Given the description of an element on the screen output the (x, y) to click on. 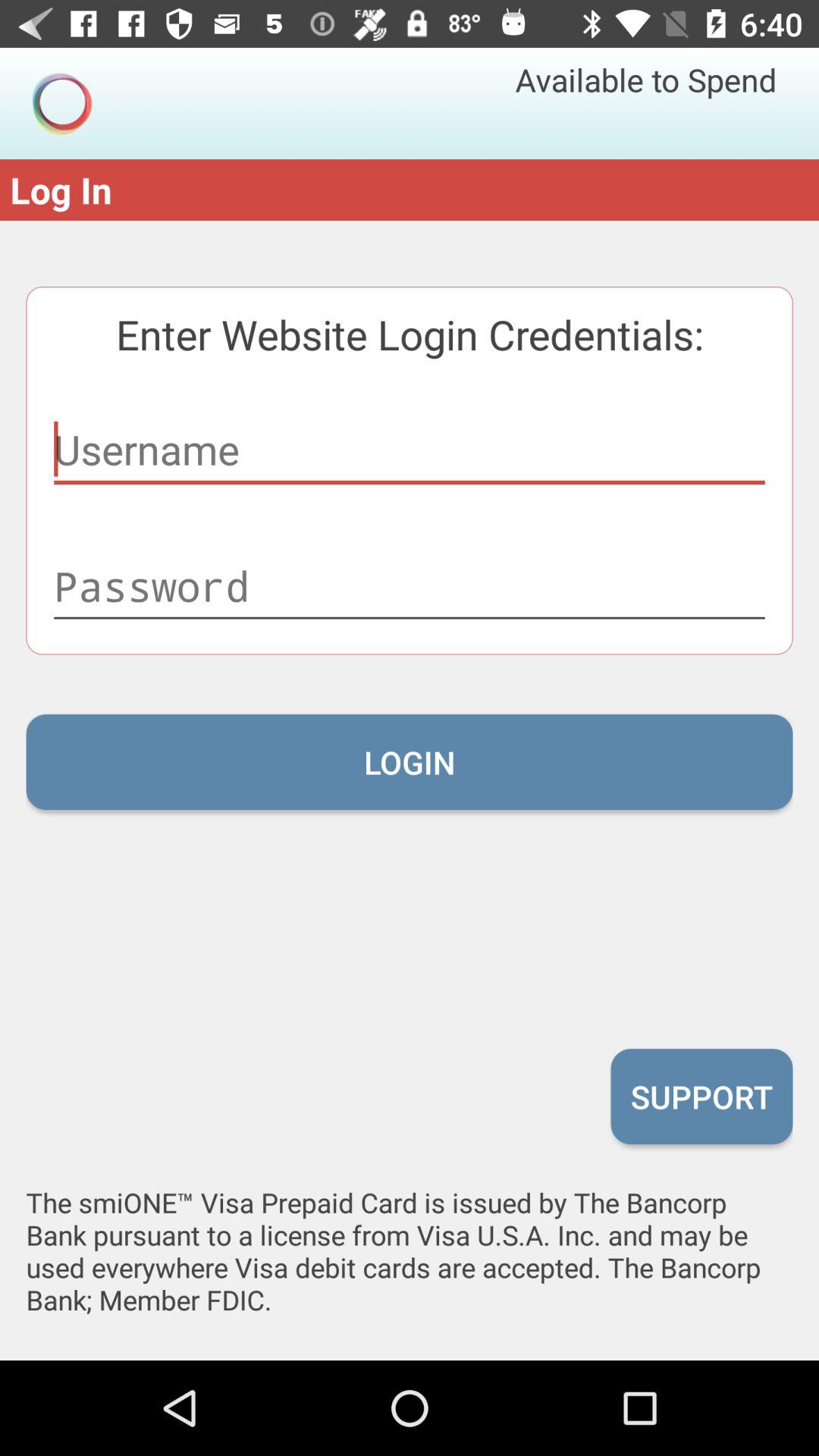
enter password (409, 586)
